Given the description of an element on the screen output the (x, y) to click on. 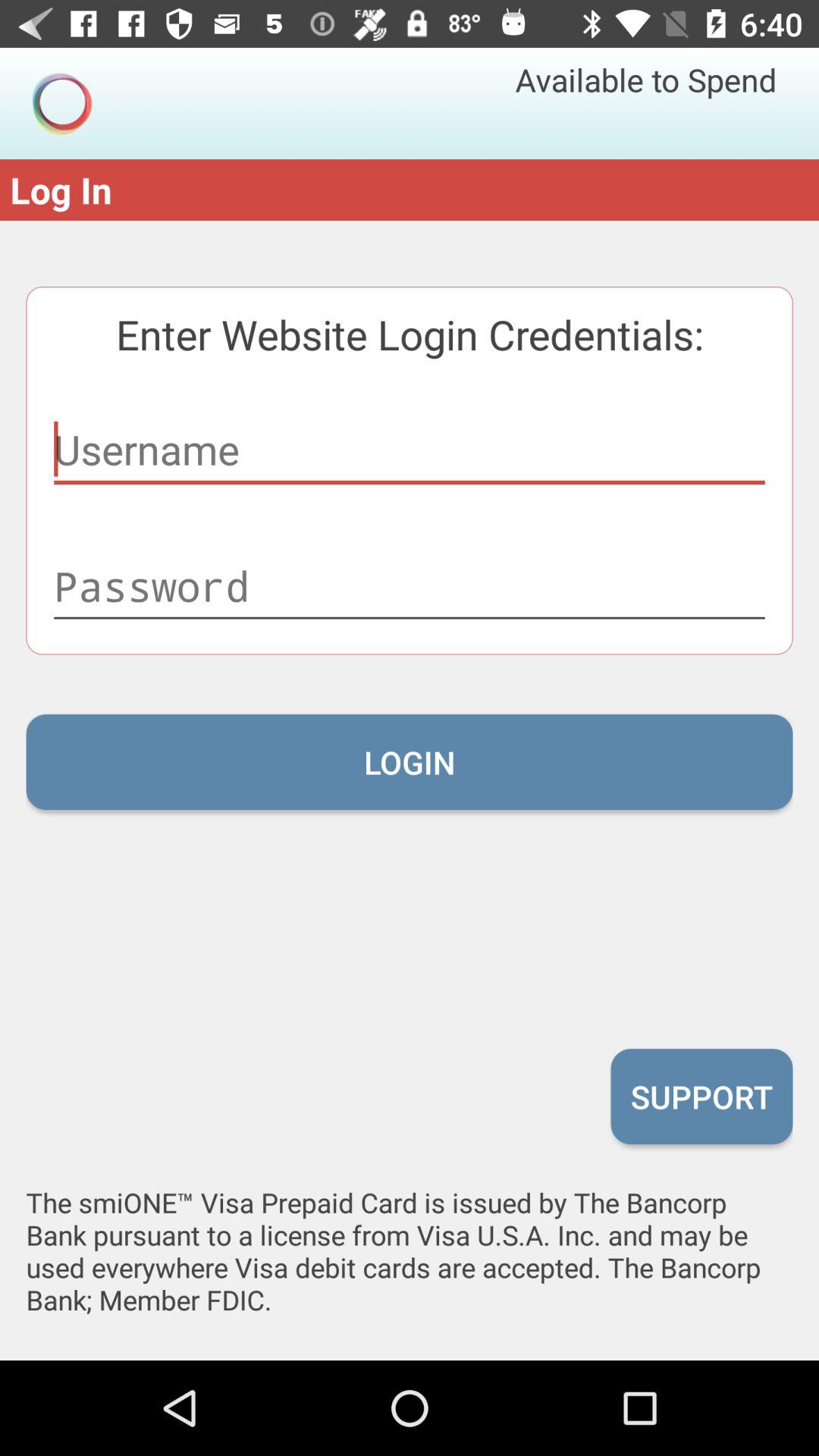
enter password (409, 586)
